Given the description of an element on the screen output the (x, y) to click on. 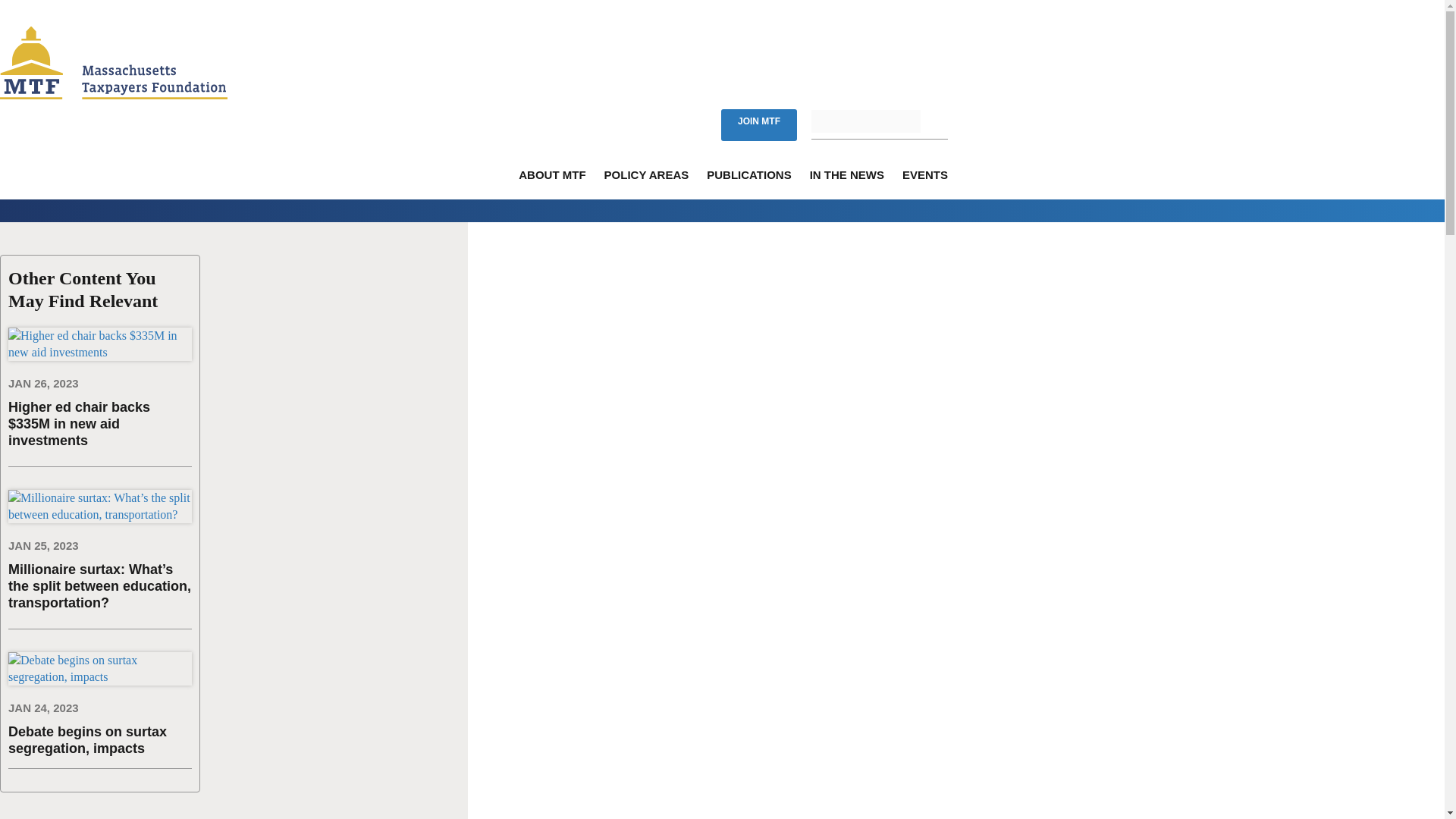
SEARCH (939, 121)
POLICY AREAS (646, 183)
JOIN MTF (758, 124)
Home (113, 94)
ABOUT MTF (551, 183)
Search keywords (865, 120)
